Given the description of an element on the screen output the (x, y) to click on. 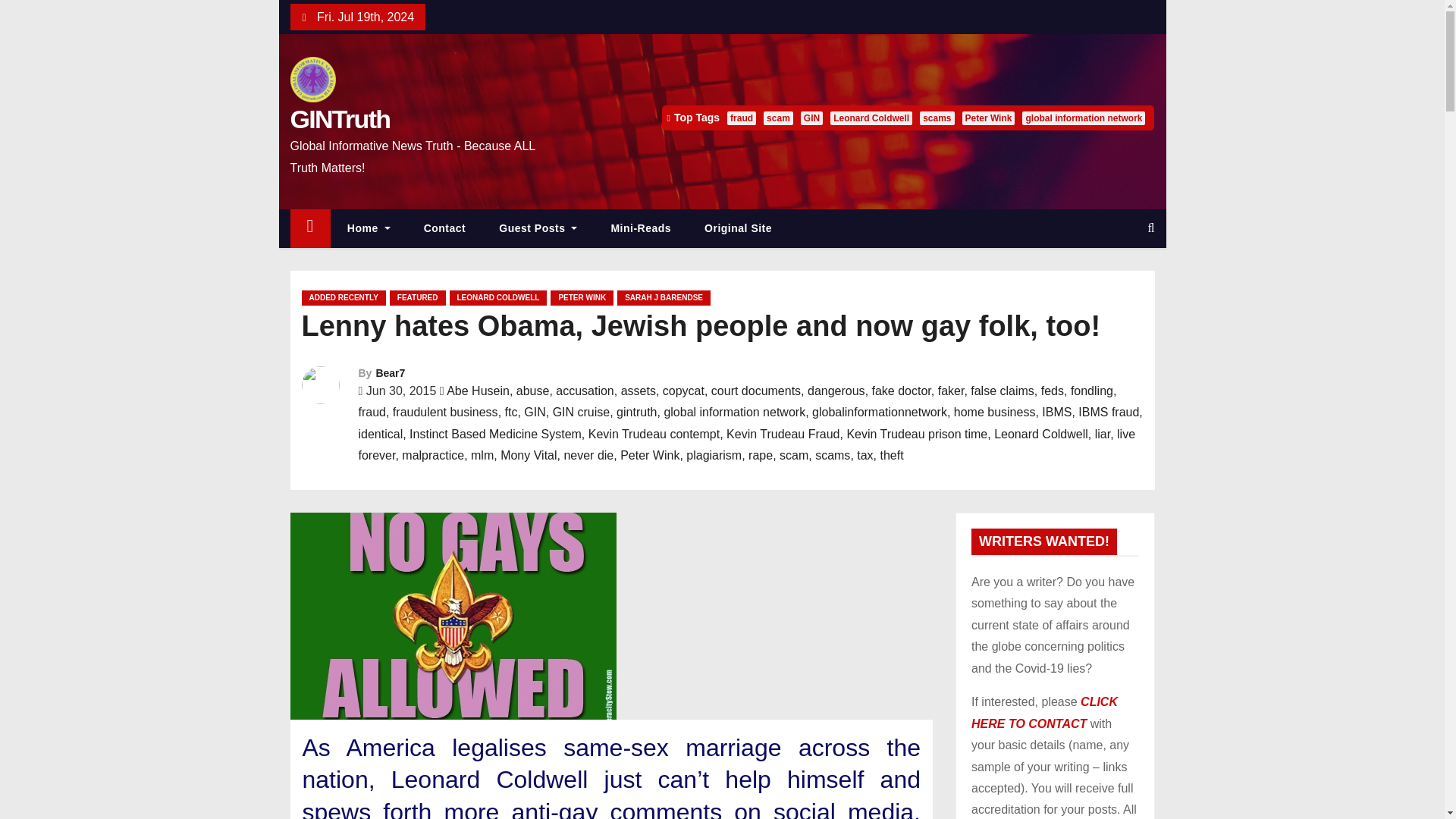
scam (777, 118)
SARAH J BARENDSE (663, 297)
GINTruth (339, 118)
Original Site (738, 228)
Original Site (738, 228)
FEATURED (417, 297)
assets (638, 390)
LEONARD COLDWELL (498, 297)
abuse (533, 390)
copycat (683, 390)
Mini-Reads (640, 228)
Home (368, 228)
Leonard Coldwell (870, 118)
accusation (585, 390)
Home (309, 228)
